Given the description of an element on the screen output the (x, y) to click on. 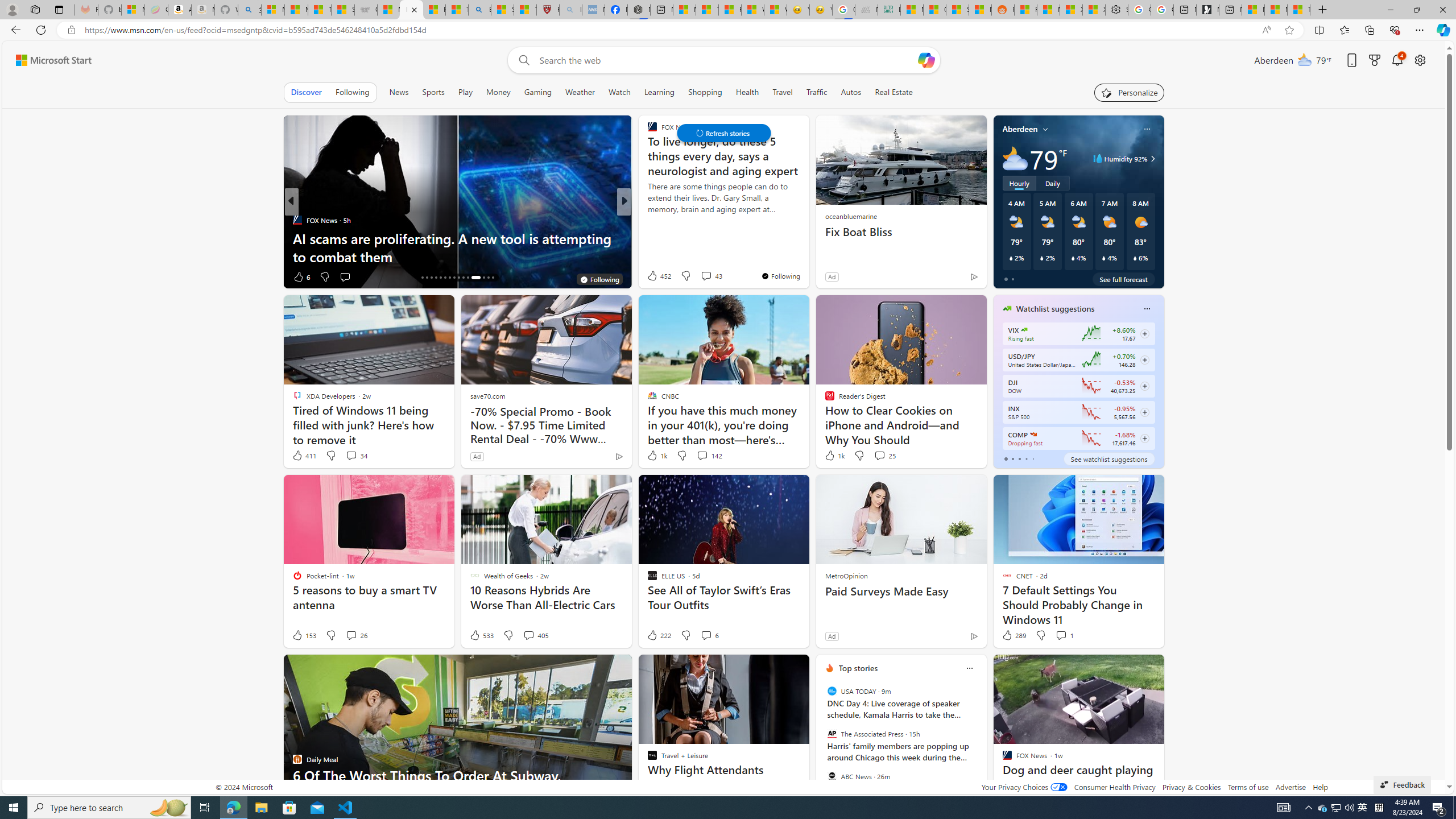
tab-2 (1019, 458)
View comments 7 Comment (703, 276)
View comments 25 Comment (879, 455)
Top stories (857, 668)
Class: weather-arrow-glyph (1152, 158)
View comments 25 Comment (884, 455)
182 Like (654, 276)
